Given the description of an element on the screen output the (x, y) to click on. 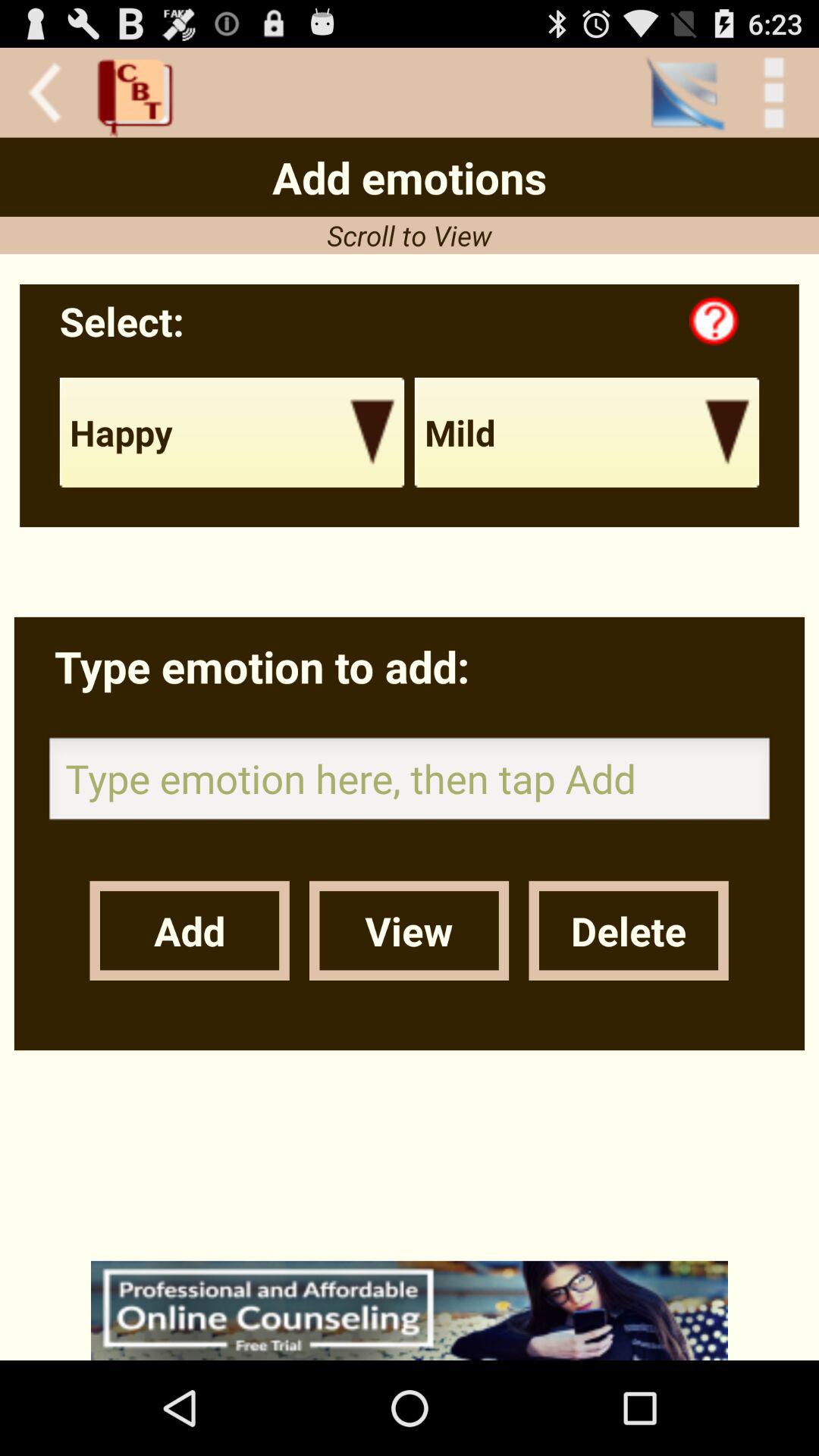
type the emotion add (409, 782)
